Given the description of an element on the screen output the (x, y) to click on. 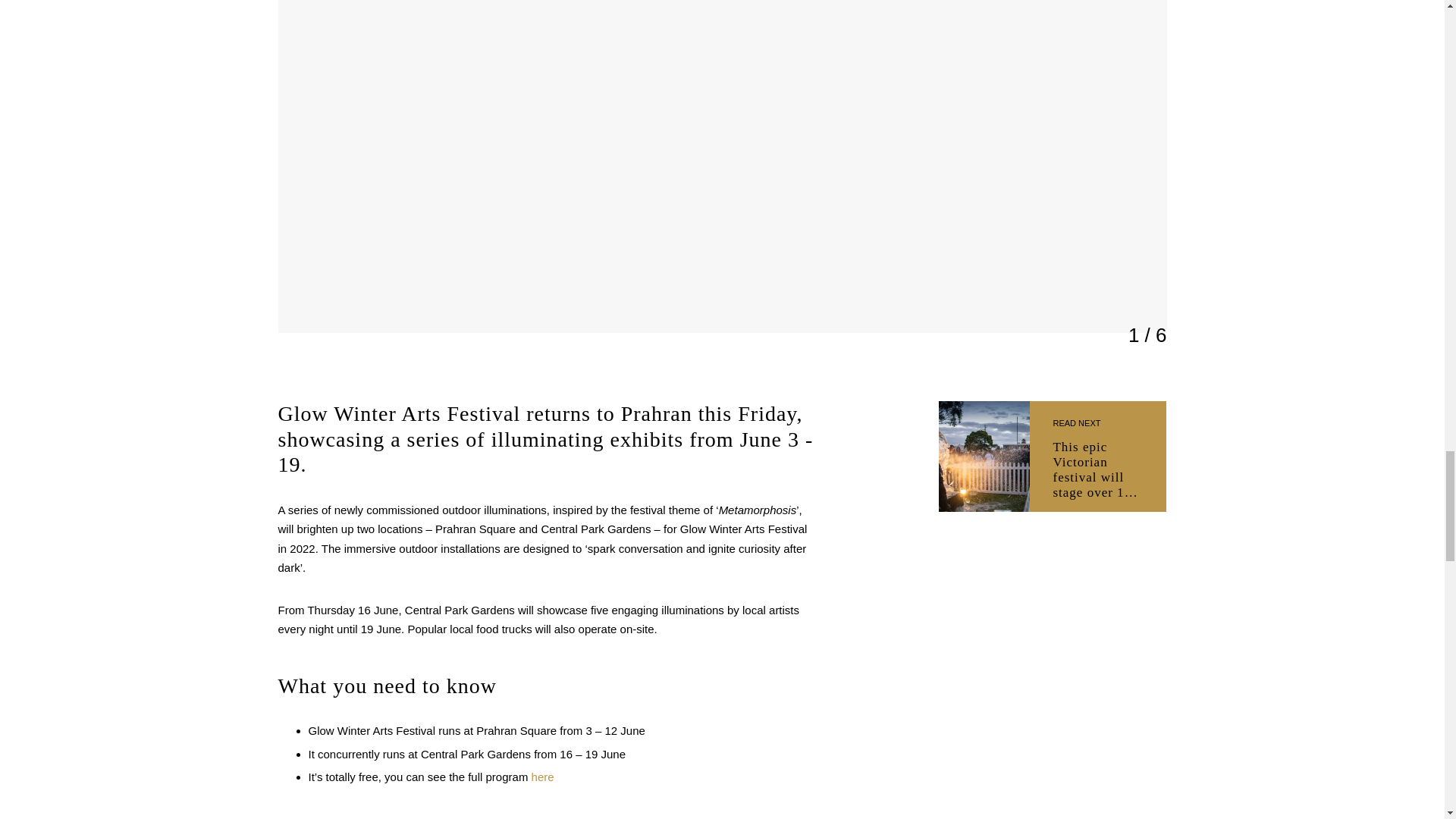
here (542, 776)
